Given the description of an element on the screen output the (x, y) to click on. 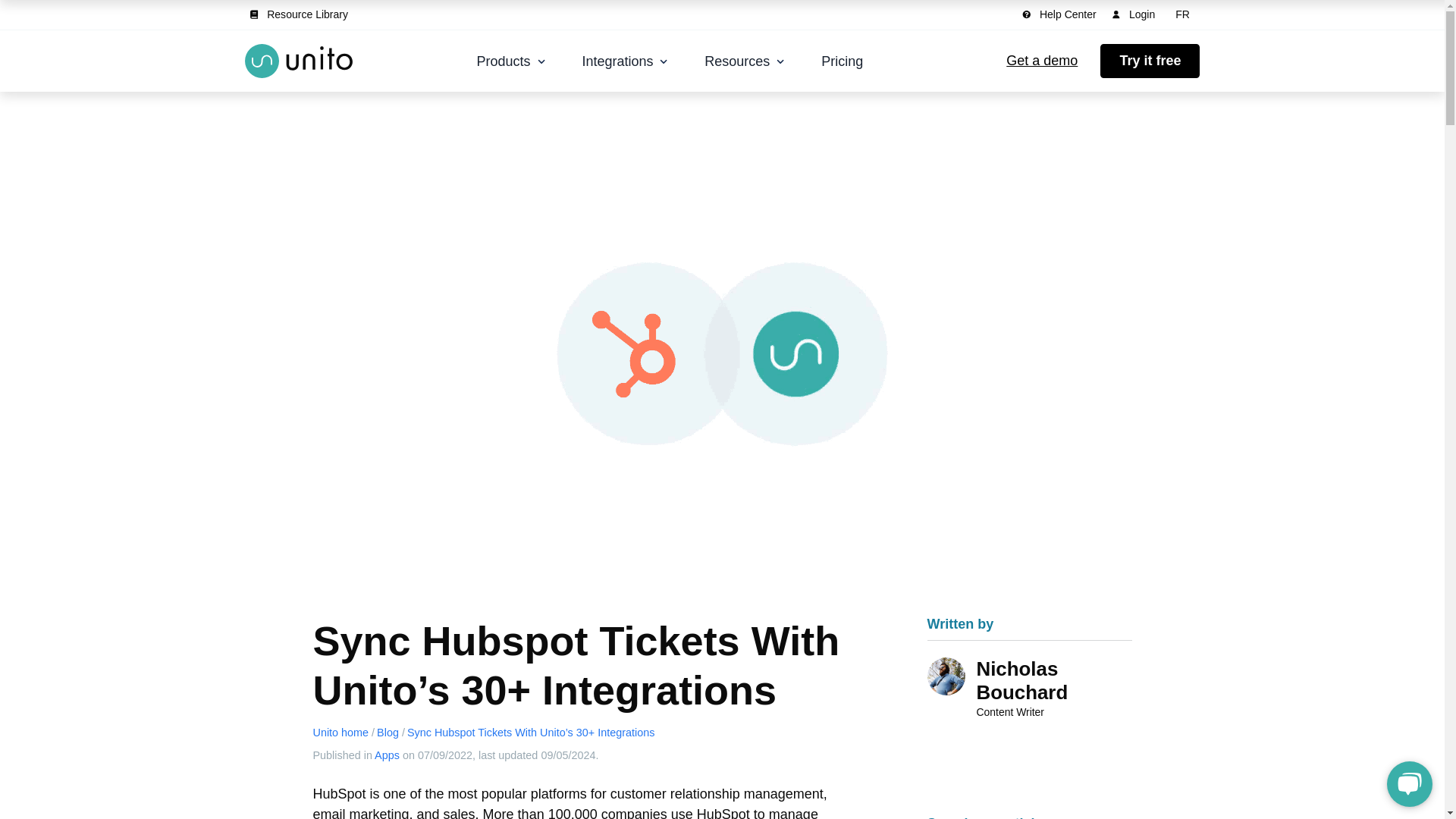
FR (1182, 14)
Help Center (1061, 14)
Resource Library (301, 14)
Login (1136, 14)
